Given the description of an element on the screen output the (x, y) to click on. 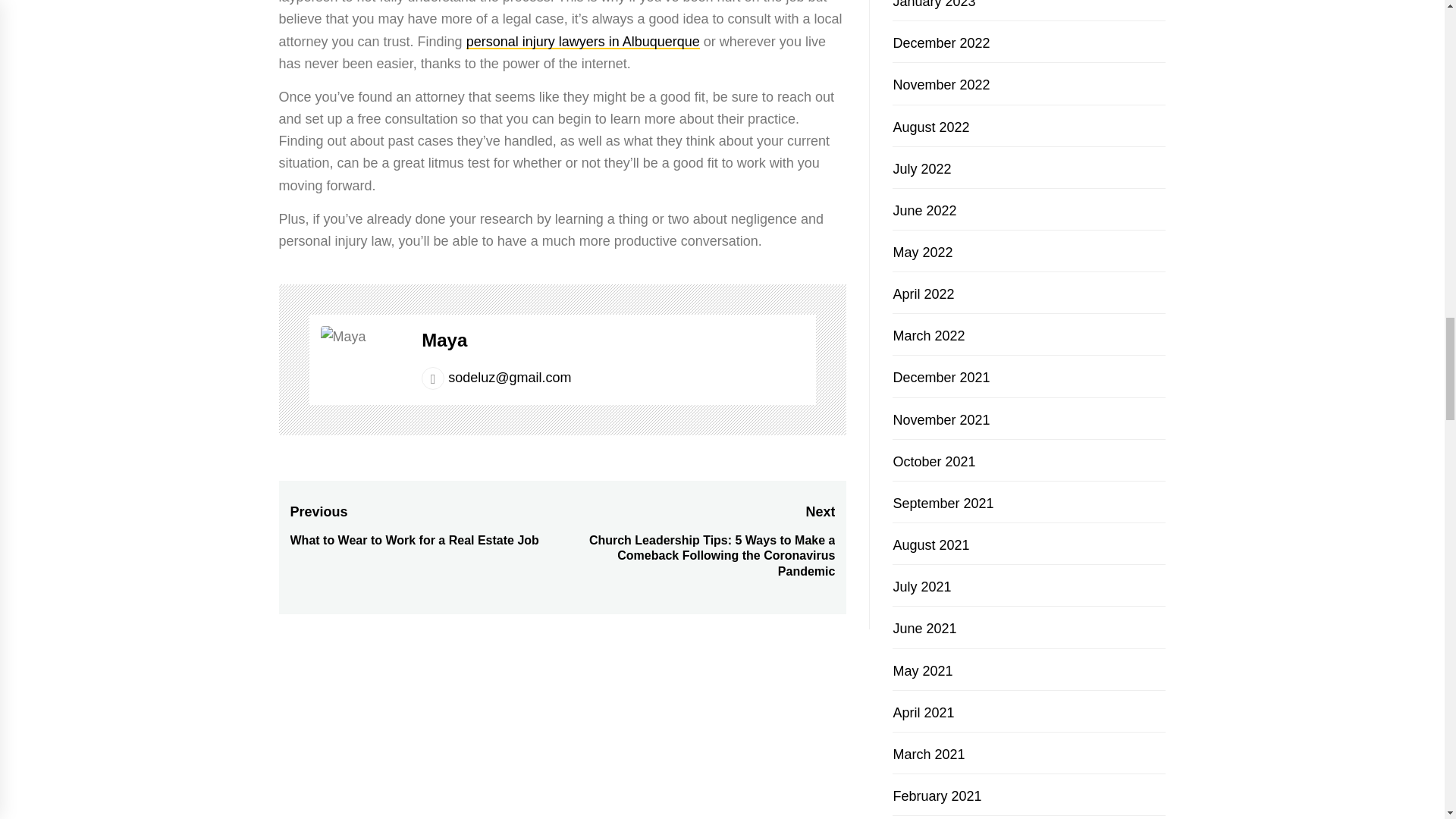
November 2022 (941, 84)
Maya (444, 340)
December 2022 (941, 43)
January 2023 (933, 4)
personal injury lawyers in Albuquerque (582, 41)
